Given the description of an element on the screen output the (x, y) to click on. 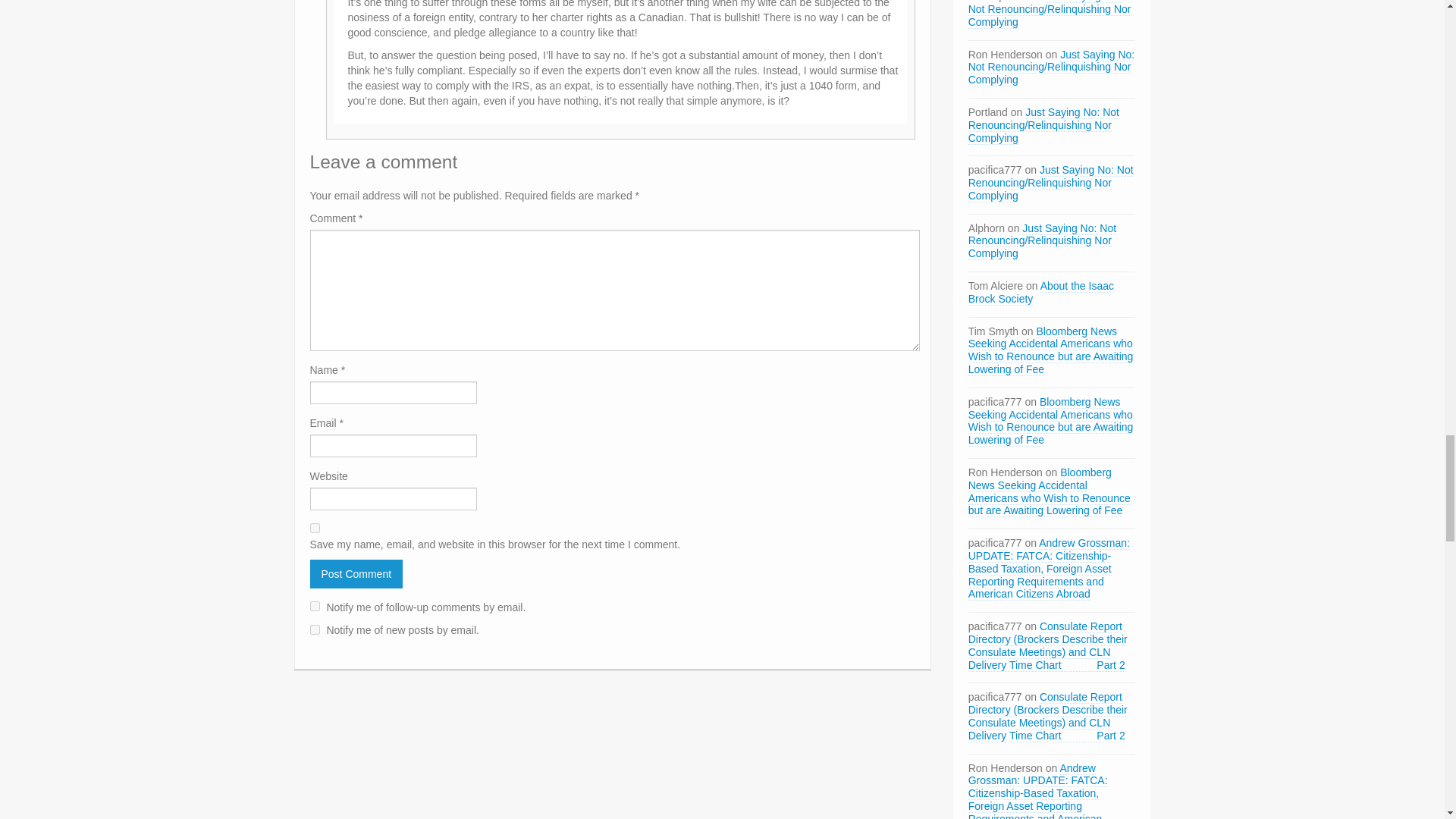
Post Comment (355, 573)
Post Comment (355, 573)
subscribe (313, 629)
subscribe (313, 605)
yes (313, 528)
